Given the description of an element on the screen output the (x, y) to click on. 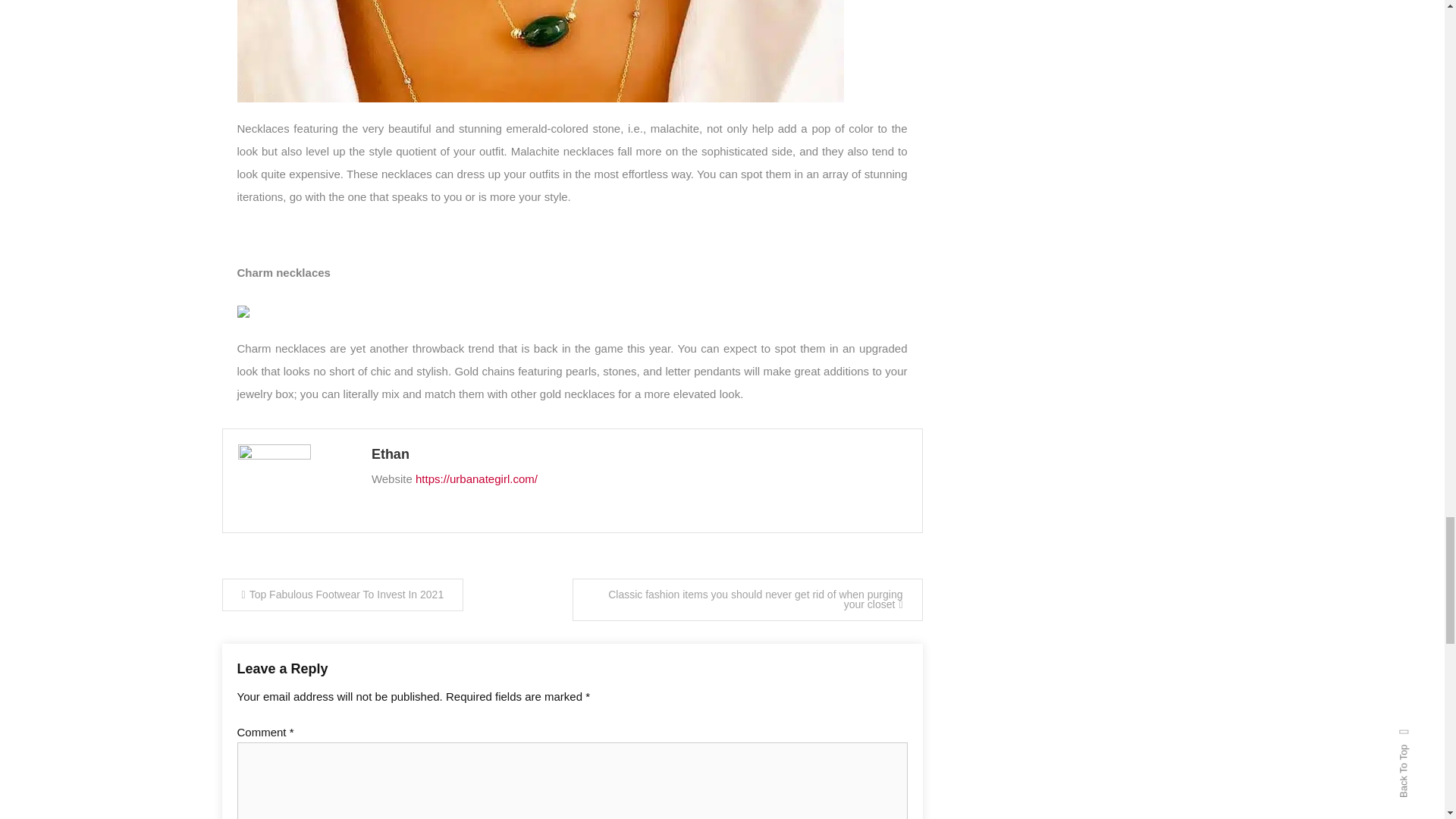
Posts by Ethan (639, 454)
Ethan (639, 454)
Top Fabulous Footwear To Invest In 2021 (342, 594)
